Given the description of an element on the screen output the (x, y) to click on. 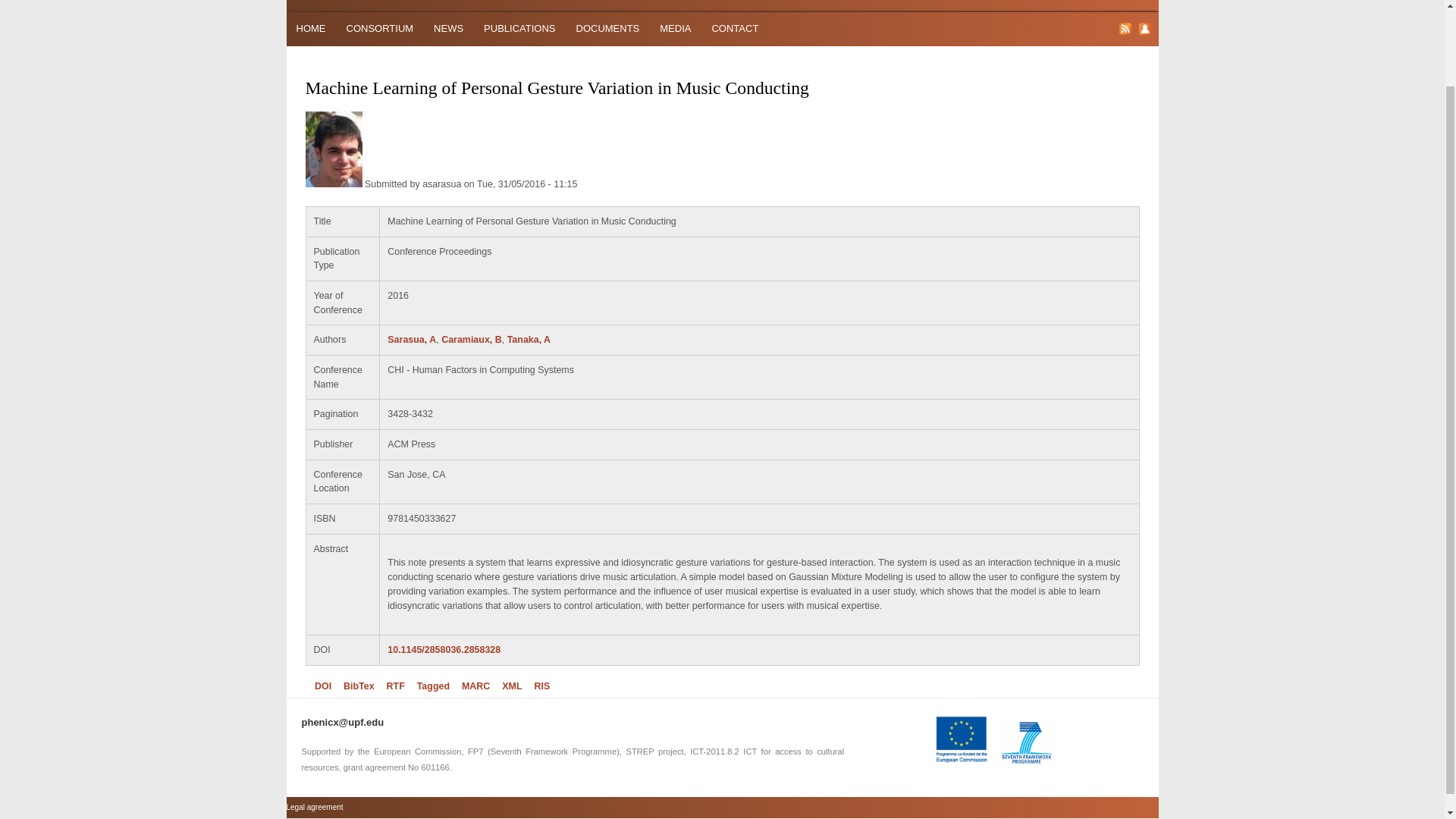
NEWS (448, 26)
CONTACT (734, 26)
PUBLICATIONS (519, 26)
DOI (322, 685)
XML (511, 685)
Sarasua, A (411, 339)
Click to download the BibTEX formatted file (358, 685)
Tanaka, A (528, 339)
Tagged (432, 685)
BibTex (358, 685)
